Given the description of an element on the screen output the (x, y) to click on. 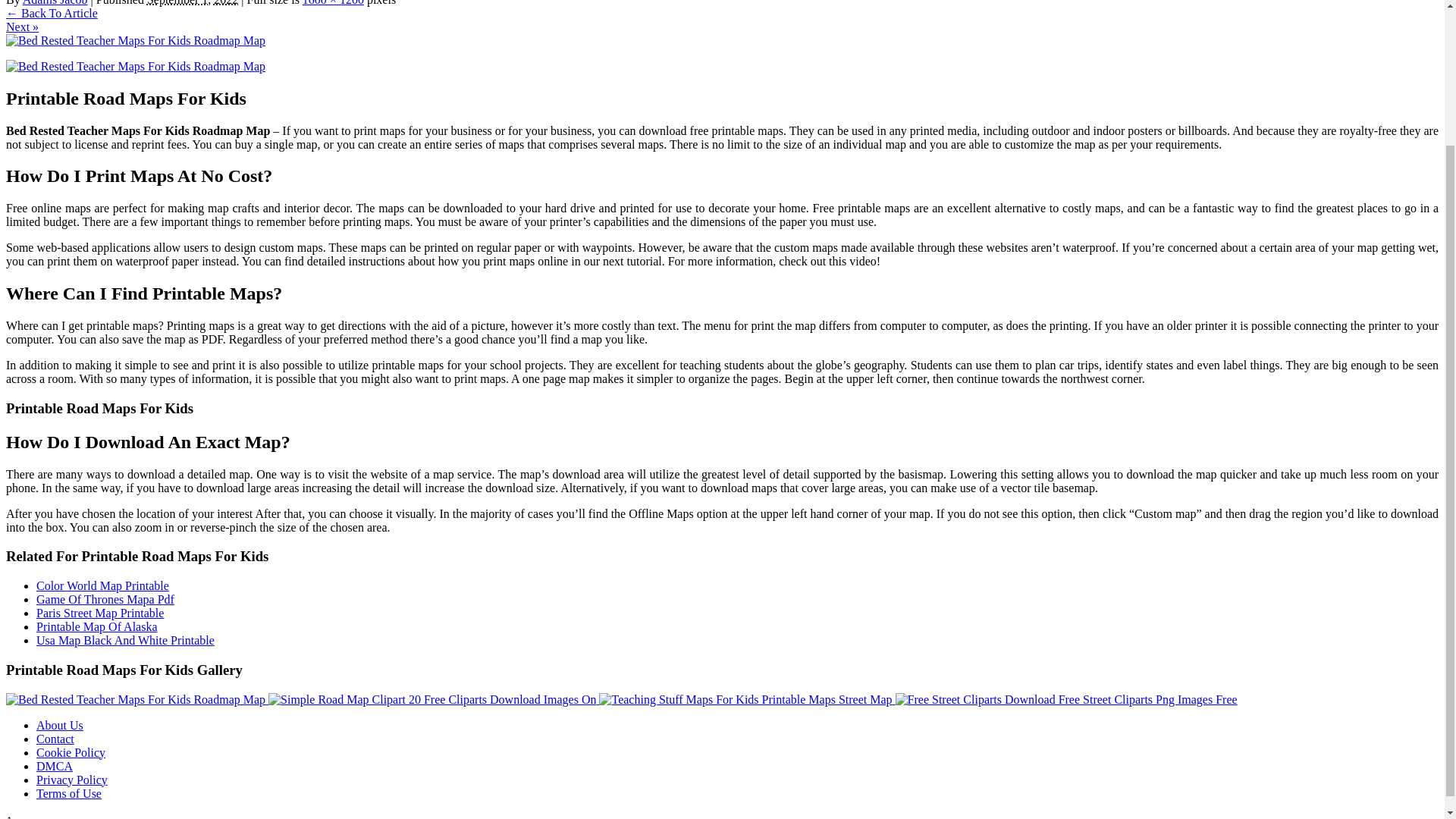
Link to full-size image (333, 2)
Return to Printable Road Maps For Kids (51, 12)
Contact (55, 738)
1:01 am (192, 2)
Simple Road Map Clipart 20 Free Cliparts Download Images On (431, 699)
DMCA (54, 766)
Teaching Stuff Maps For Kids Printable Maps Street Map (746, 698)
bed rested teacher maps for kids roadmap map (134, 66)
Paris Street Map Printable (99, 612)
Bed Rested Teacher Maps For Kids Roadmap Map (134, 699)
Privacy Policy (71, 779)
Teaching Stuff Maps For Kids Printable Maps Street Map (744, 699)
Cookie Policy (70, 752)
Color World Map Printable (102, 585)
